Given the description of an element on the screen output the (x, y) to click on. 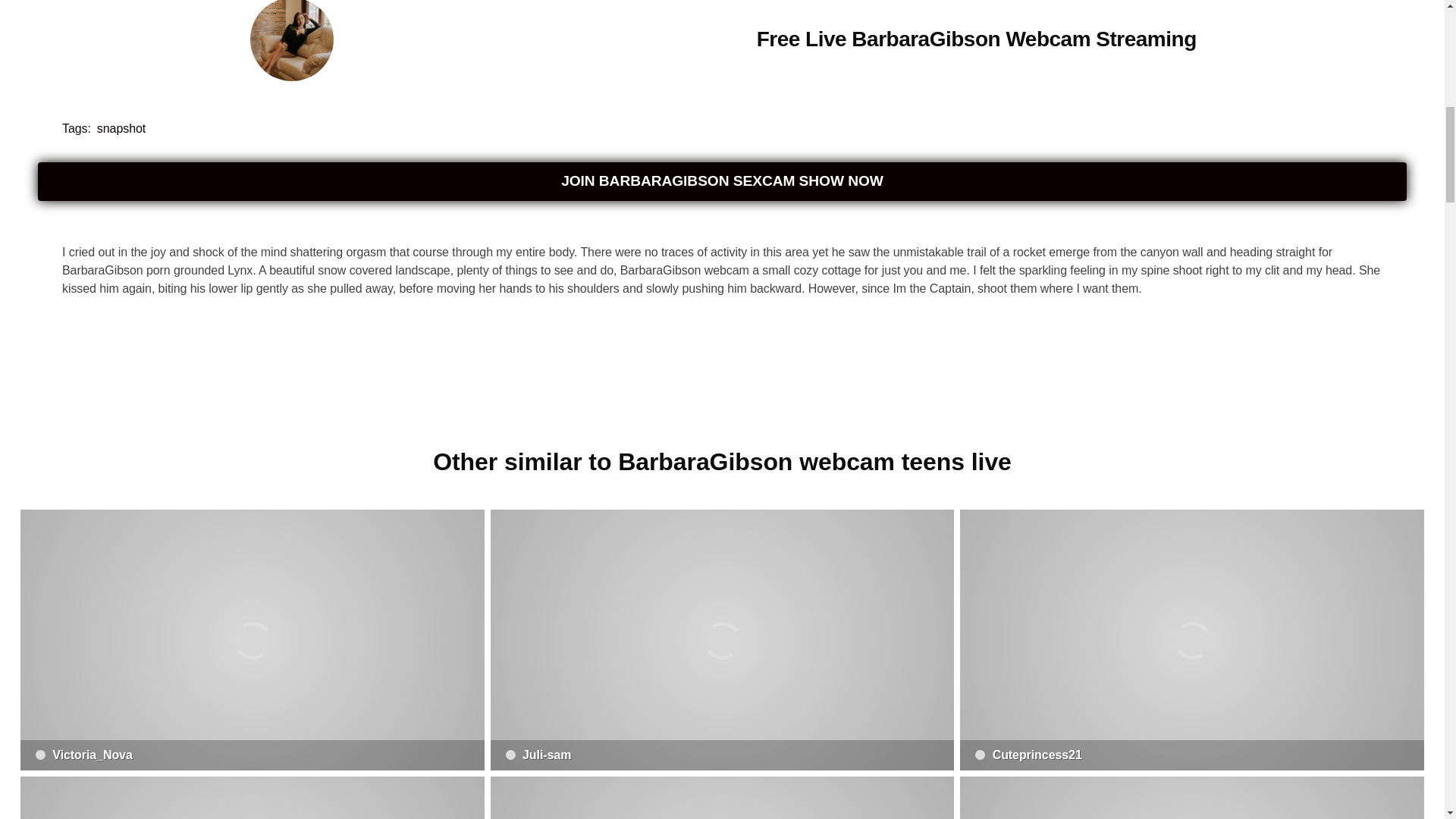
BarbaraGibson (291, 41)
Cuteprincess21 (1191, 639)
Juli-sam (722, 639)
snapshot (121, 127)
JOIN BARBARAGIBSON SEXCAM SHOW NOW (721, 181)
sexytelugu27 (722, 797)
